Given the description of an element on the screen output the (x, y) to click on. 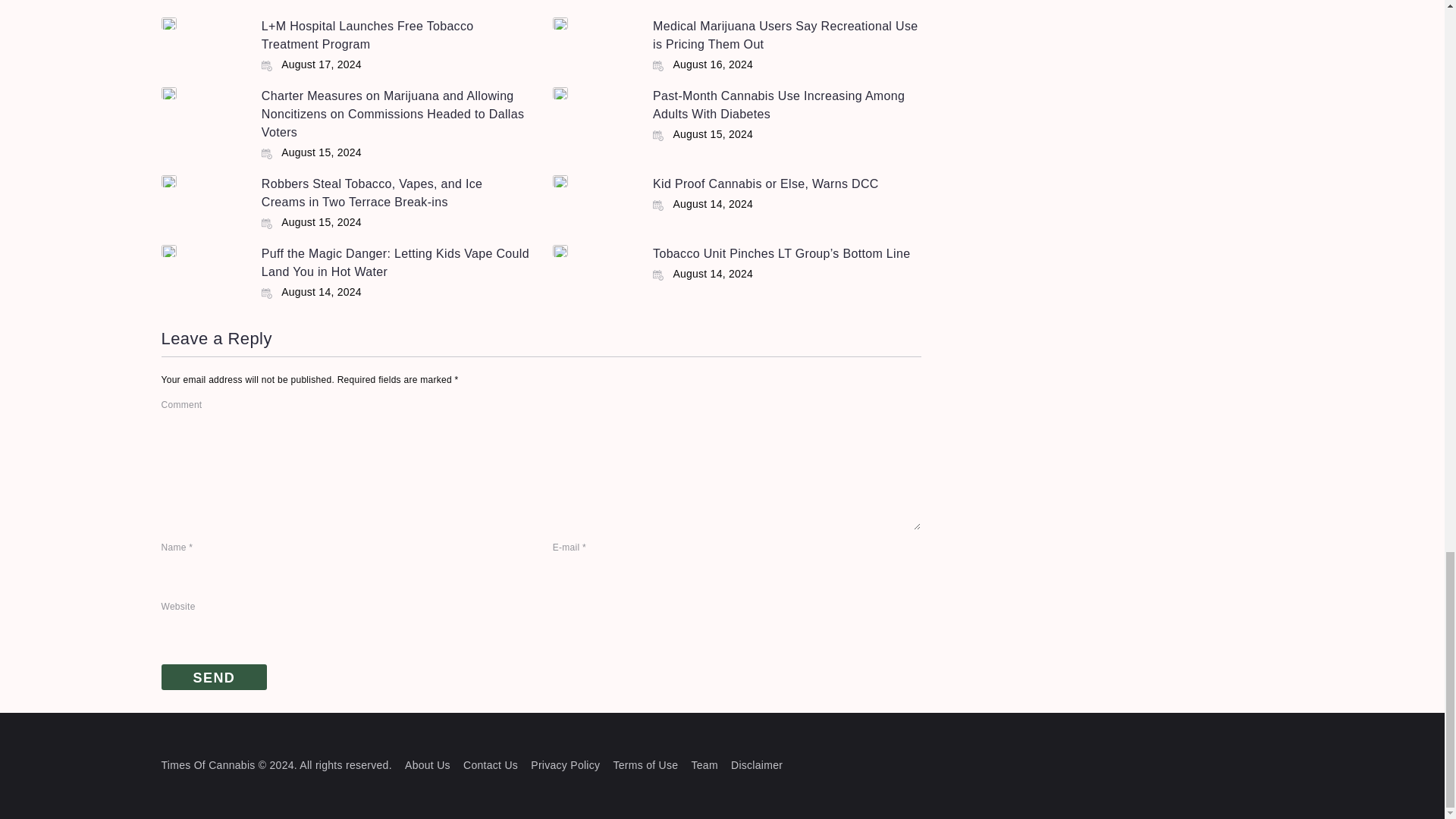
Send (213, 677)
Send (213, 677)
Kid Proof Cannabis or Else, Warns DCC (765, 183)
